Given the description of an element on the screen output the (x, y) to click on. 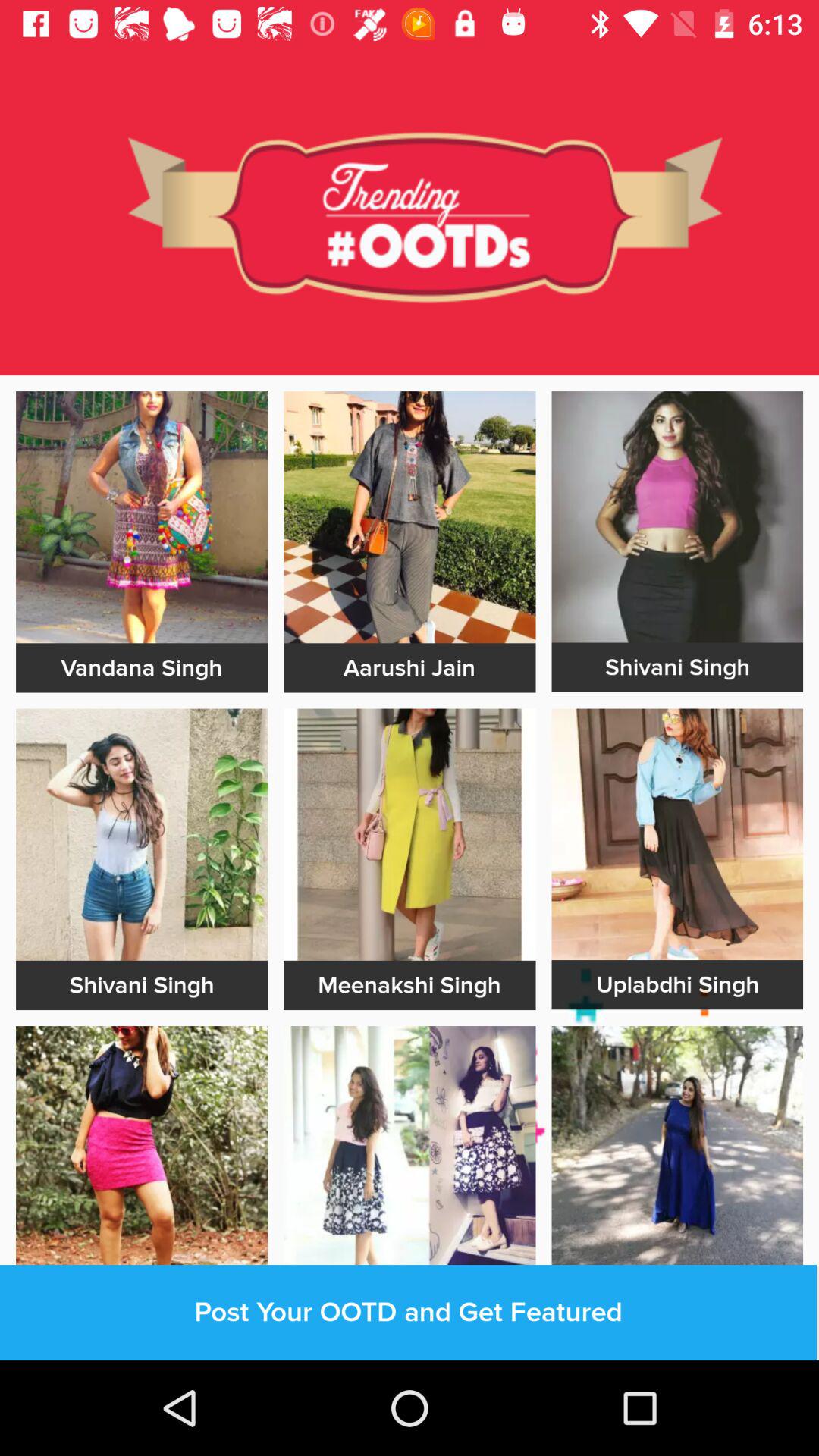
feature area (677, 516)
